Given the description of an element on the screen output the (x, y) to click on. 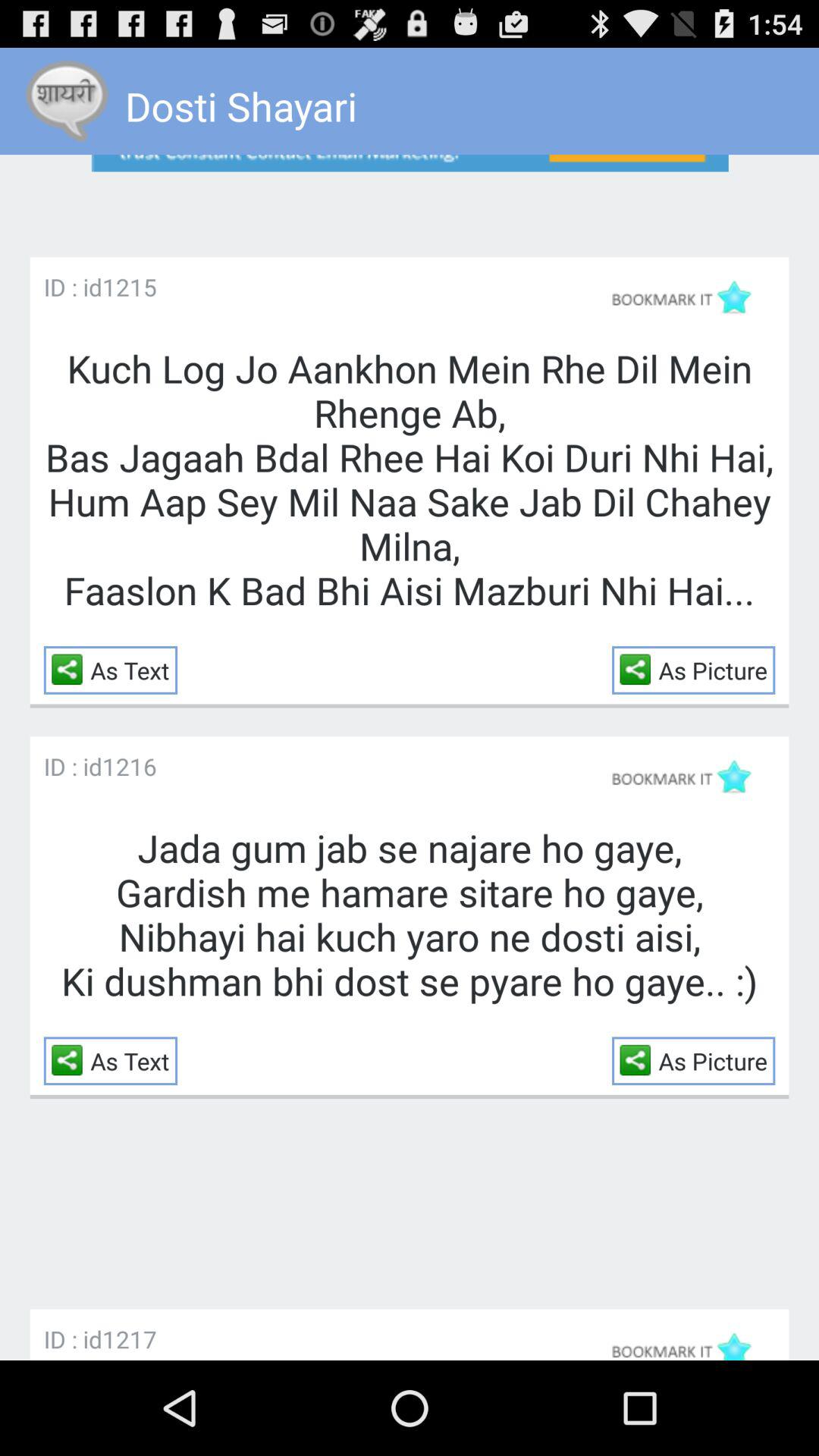
turn on item to the right of the as text (638, 669)
